Given the description of an element on the screen output the (x, y) to click on. 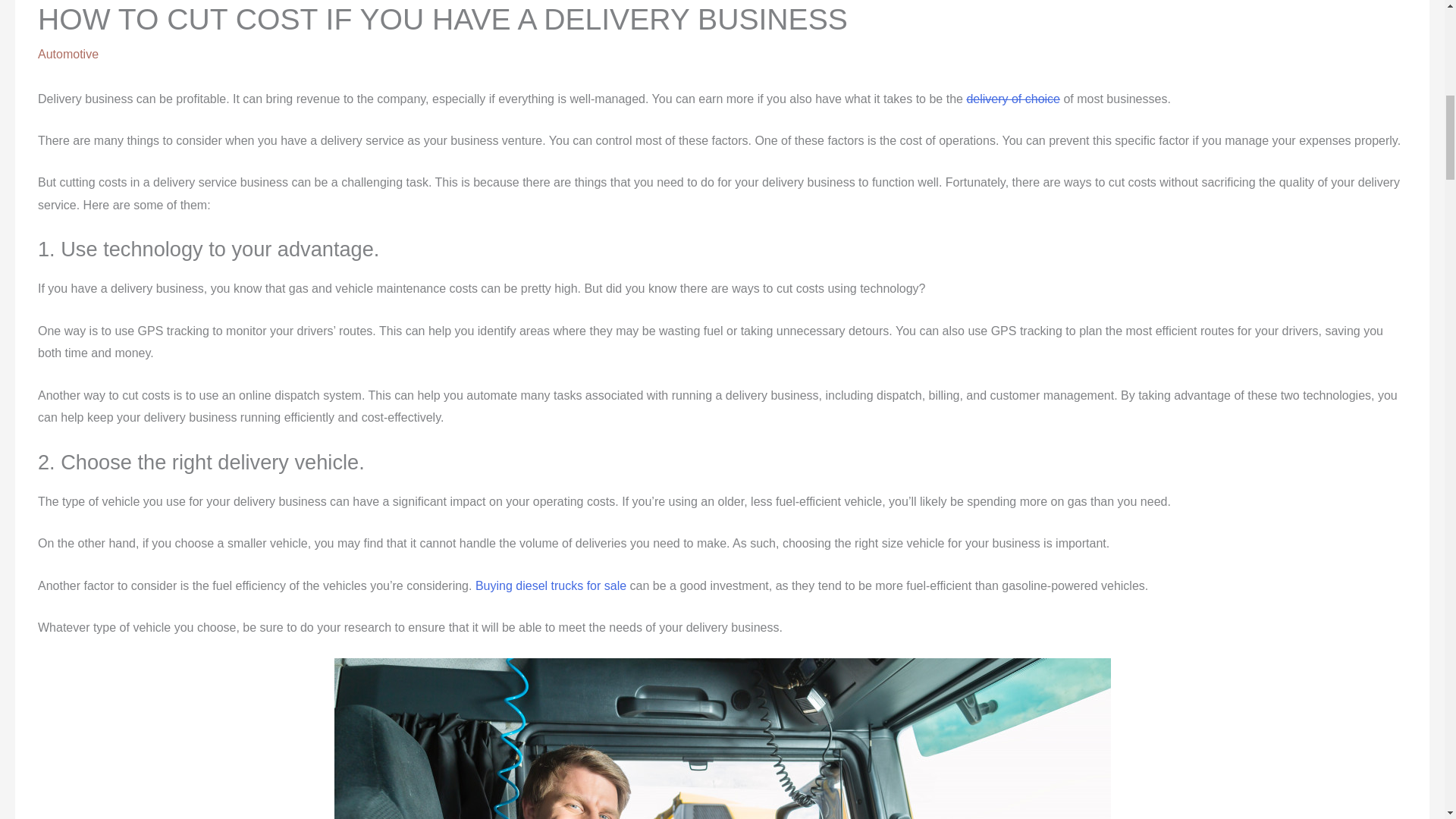
Buying diesel trucks for sale (551, 585)
Automotive (68, 53)
delivery of choice (1012, 98)
